Given the description of an element on the screen output the (x, y) to click on. 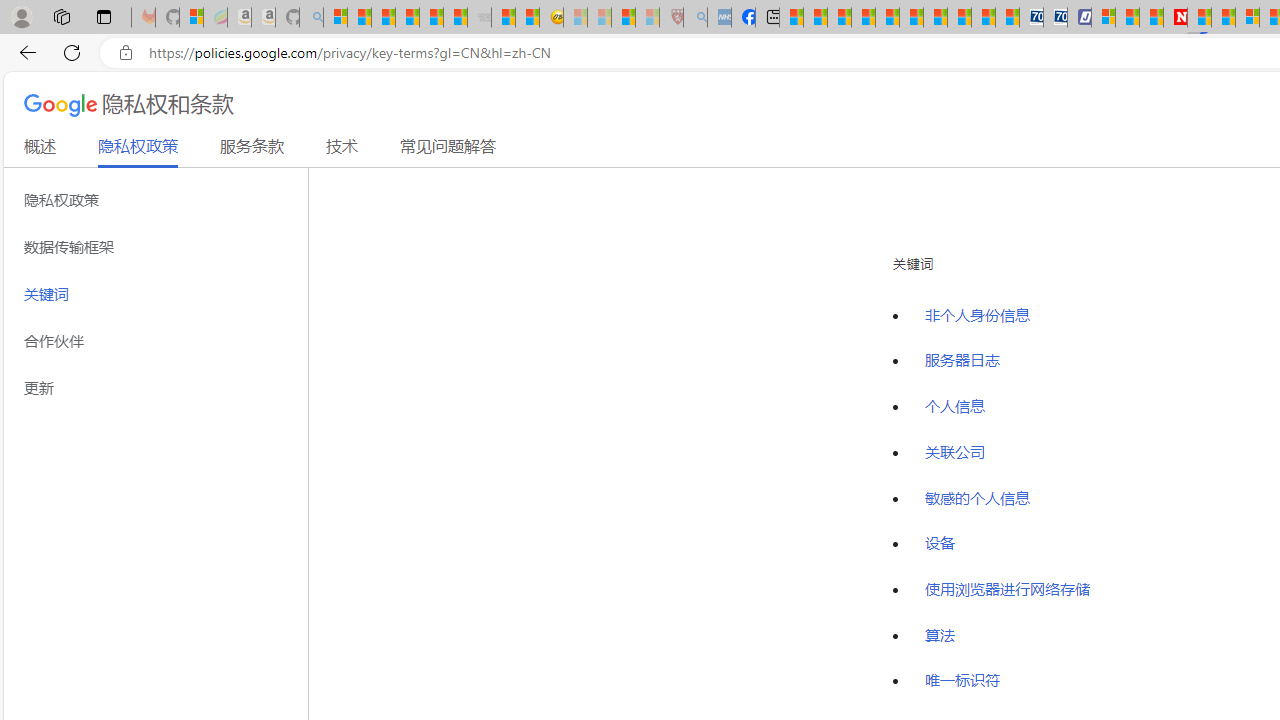
Climate Damage Becomes Too Severe To Reverse (863, 17)
12 Popular Science Lies that Must be Corrected - Sleeping (647, 17)
14 Common Myths Debunked By Scientific Facts (1223, 17)
